Given the description of an element on the screen output the (x, y) to click on. 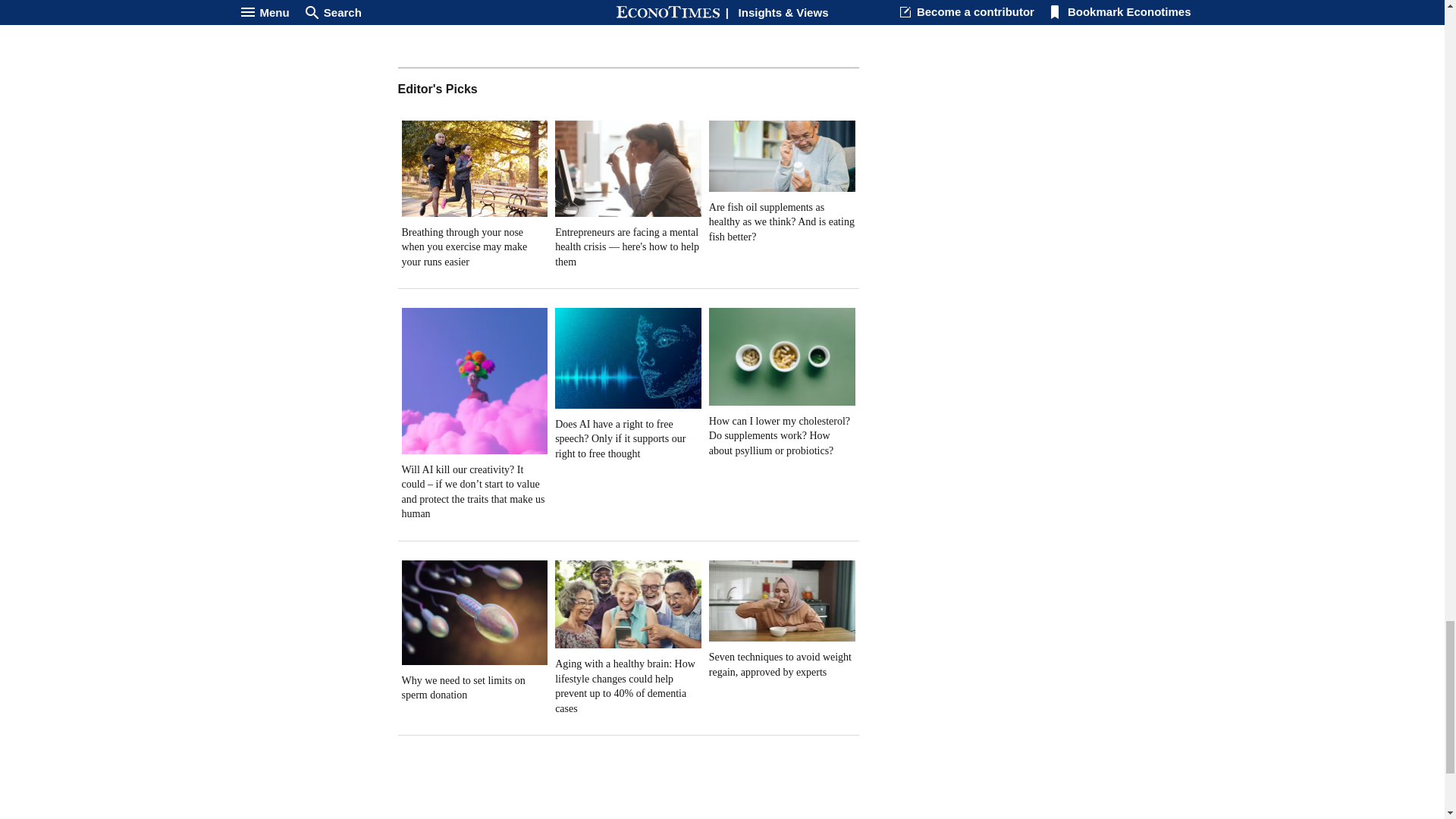
FastComments (628, 30)
